Given the description of an element on the screen output the (x, y) to click on. 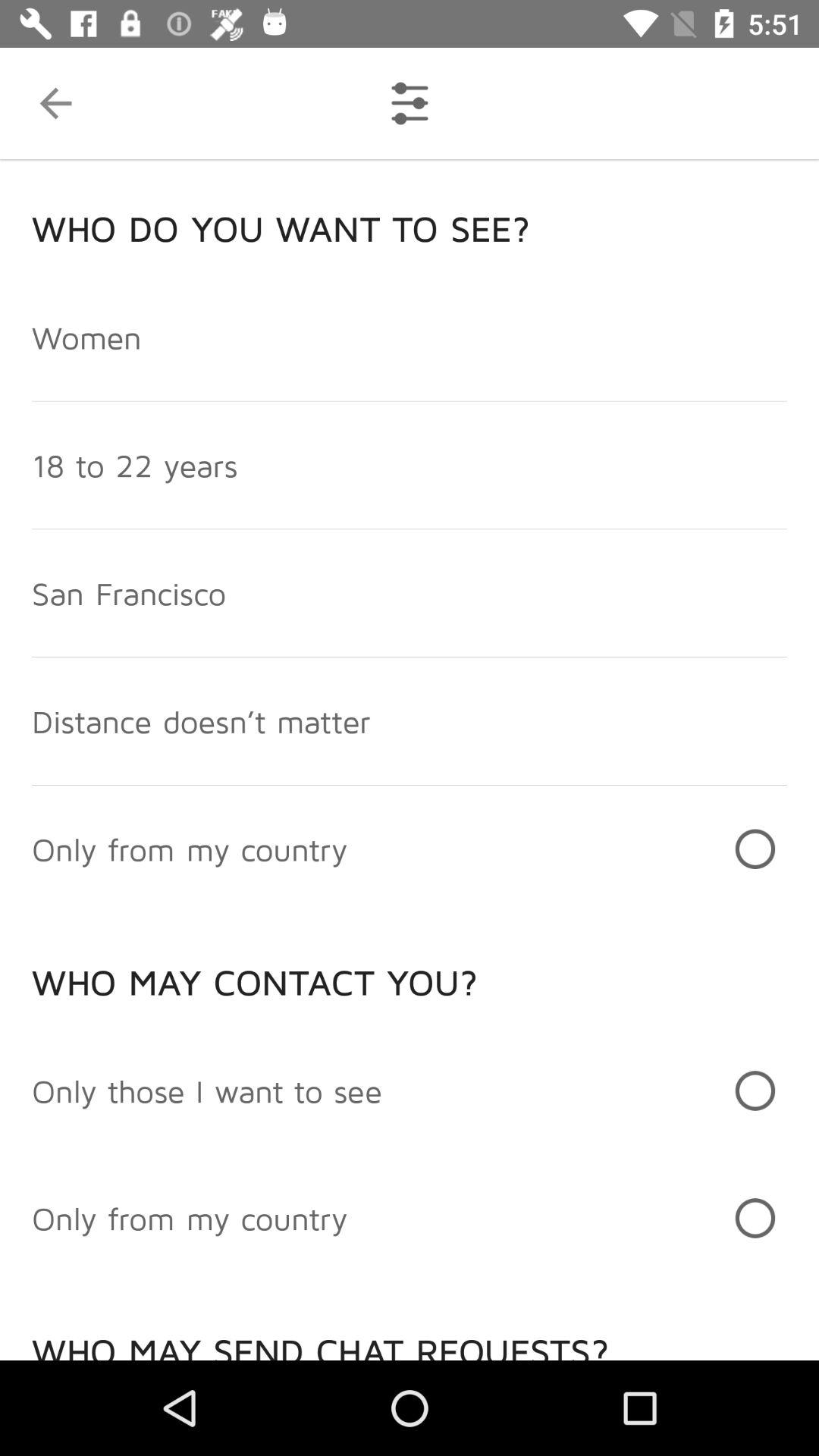
jump to 18 to 22 item (134, 464)
